Given the description of an element on the screen output the (x, y) to click on. 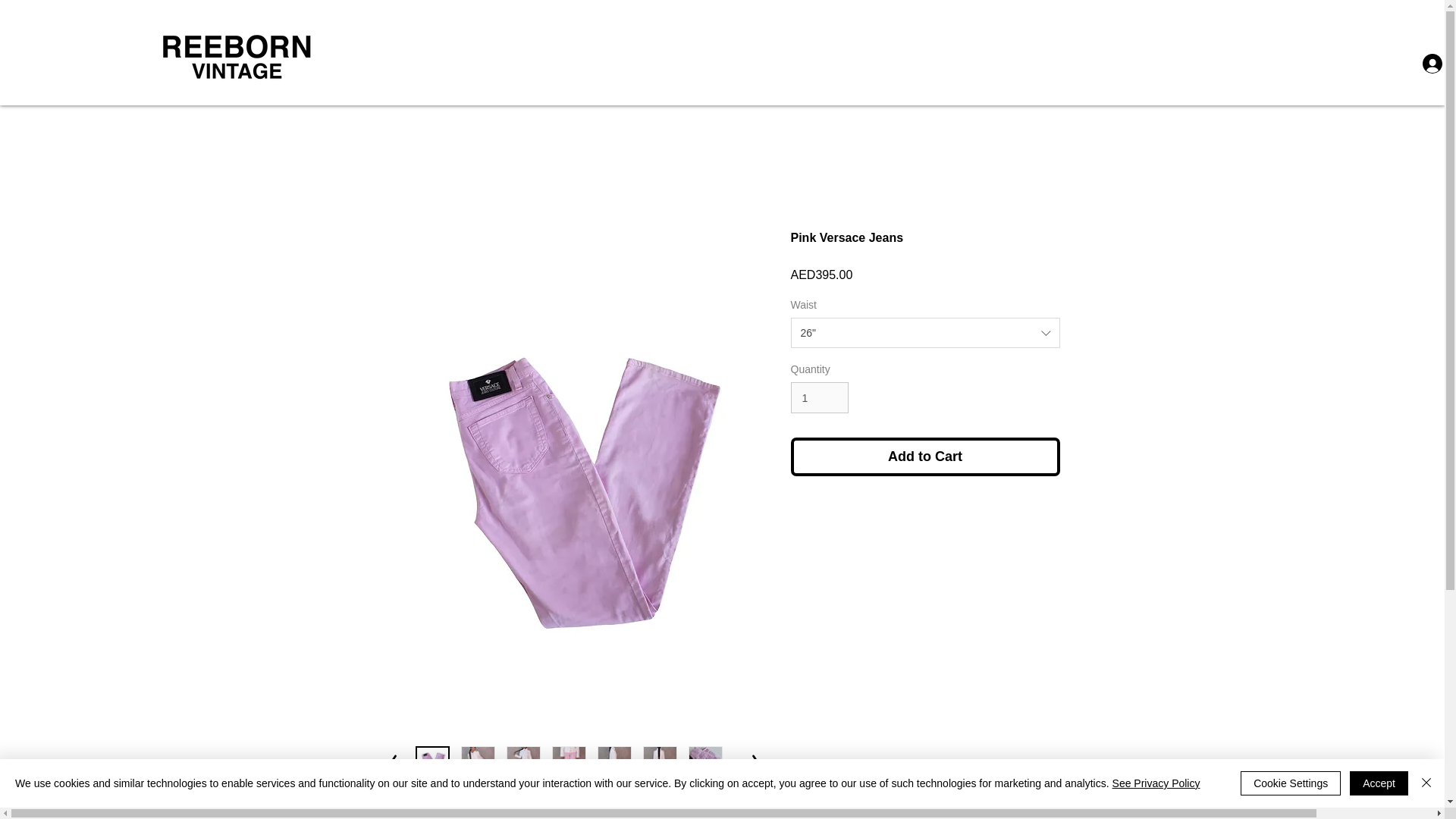
26" (924, 332)
Accept (1378, 783)
Add to Cart (924, 456)
Log In (1434, 62)
Cookie Settings (1290, 783)
1 (818, 397)
See Privacy Policy (1155, 783)
